Given the description of an element on the screen output the (x, y) to click on. 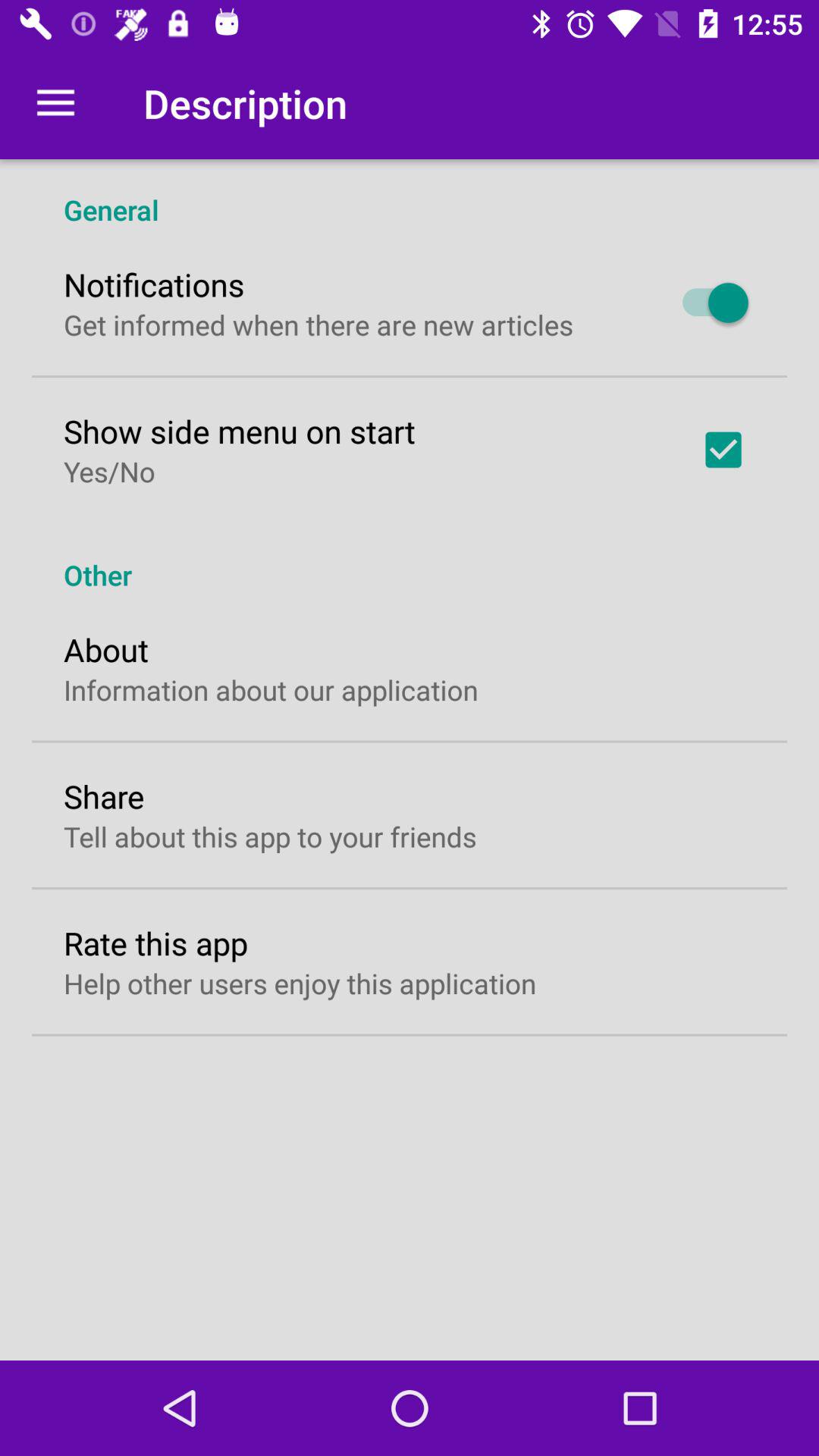
click the icon above show side menu (318, 324)
